Given the description of an element on the screen output the (x, y) to click on. 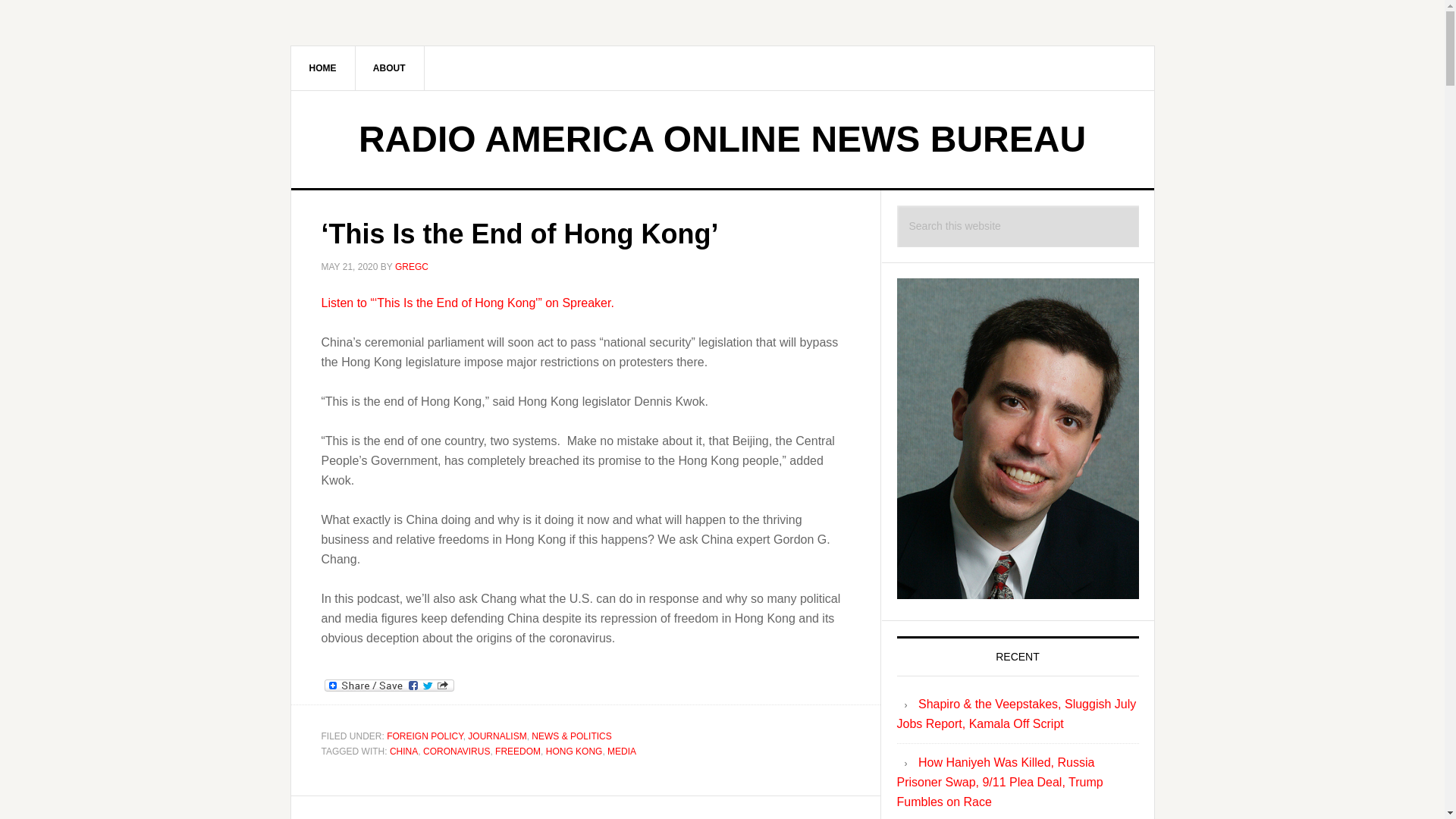
FOREIGN POLICY (425, 736)
CORONAVIRUS (456, 751)
HOME (323, 67)
GREGC (411, 266)
FREEDOM (517, 751)
MEDIA (621, 751)
ABOUT (390, 67)
HONG KONG (574, 751)
RADIO AMERICA ONLINE NEWS BUREAU (722, 138)
JOURNALISM (496, 736)
CHINA (403, 751)
